Given the description of an element on the screen output the (x, y) to click on. 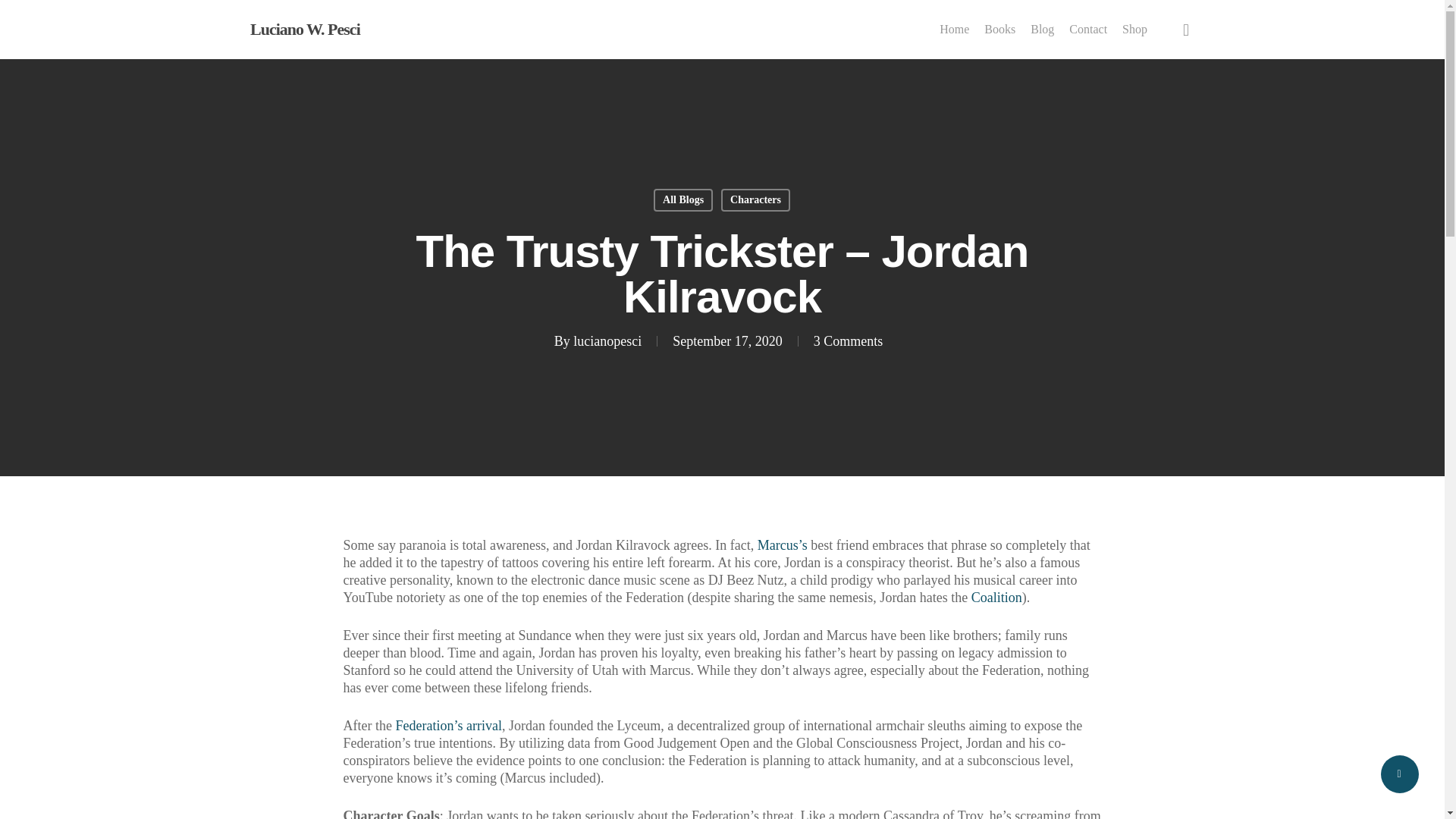
3 Comments (848, 340)
lucianopesci (607, 340)
Posts by lucianopesci (607, 340)
Privacy Policy (481, 654)
Characters (755, 200)
Books (999, 29)
Search for: (962, 660)
Contact (1087, 29)
Home (954, 29)
Shop (1134, 29)
